Given the description of an element on the screen output the (x, y) to click on. 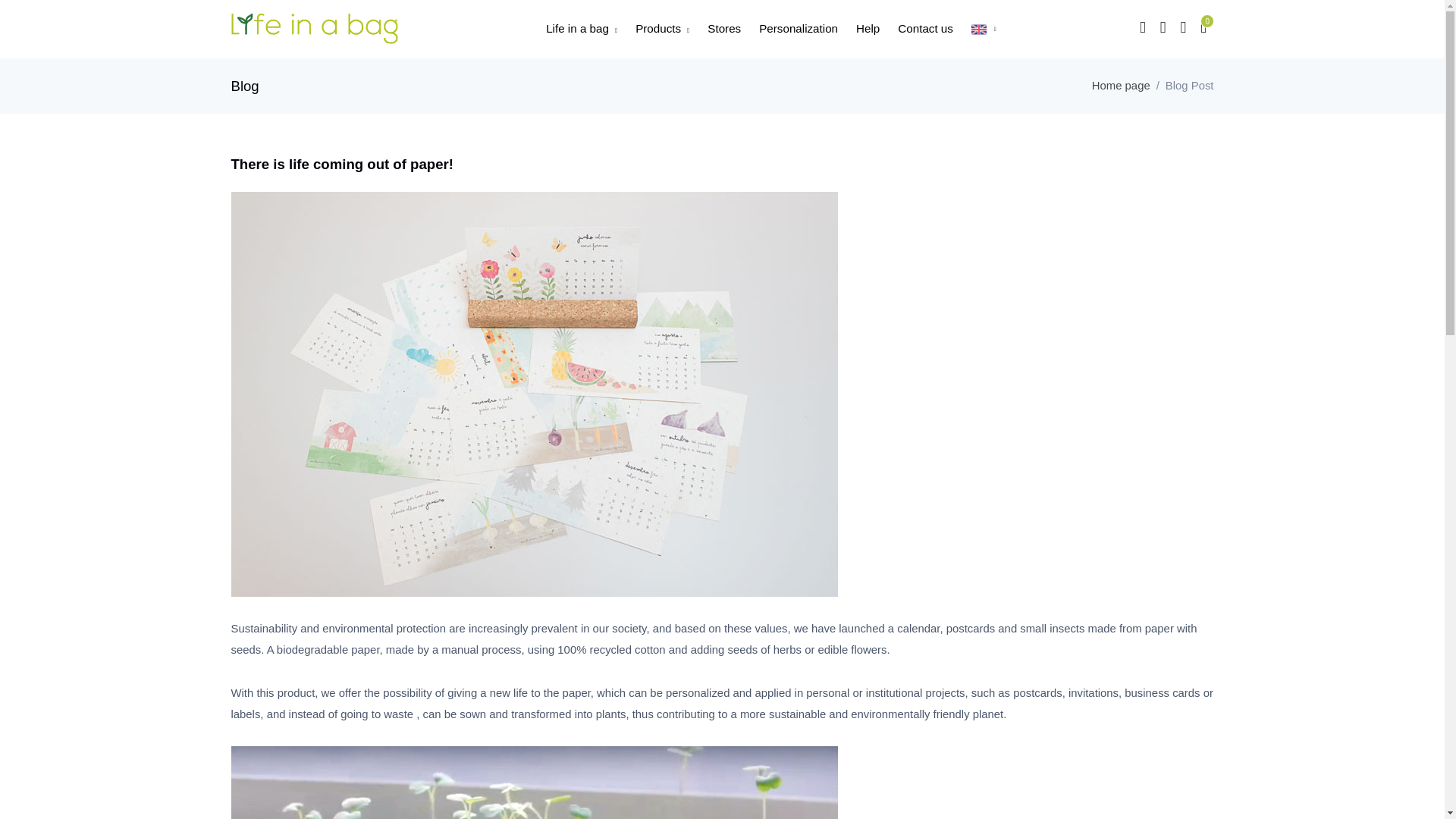
Products (662, 28)
Life in a bag (581, 28)
English (979, 29)
Life in a bag (313, 28)
